Given the description of an element on the screen output the (x, y) to click on. 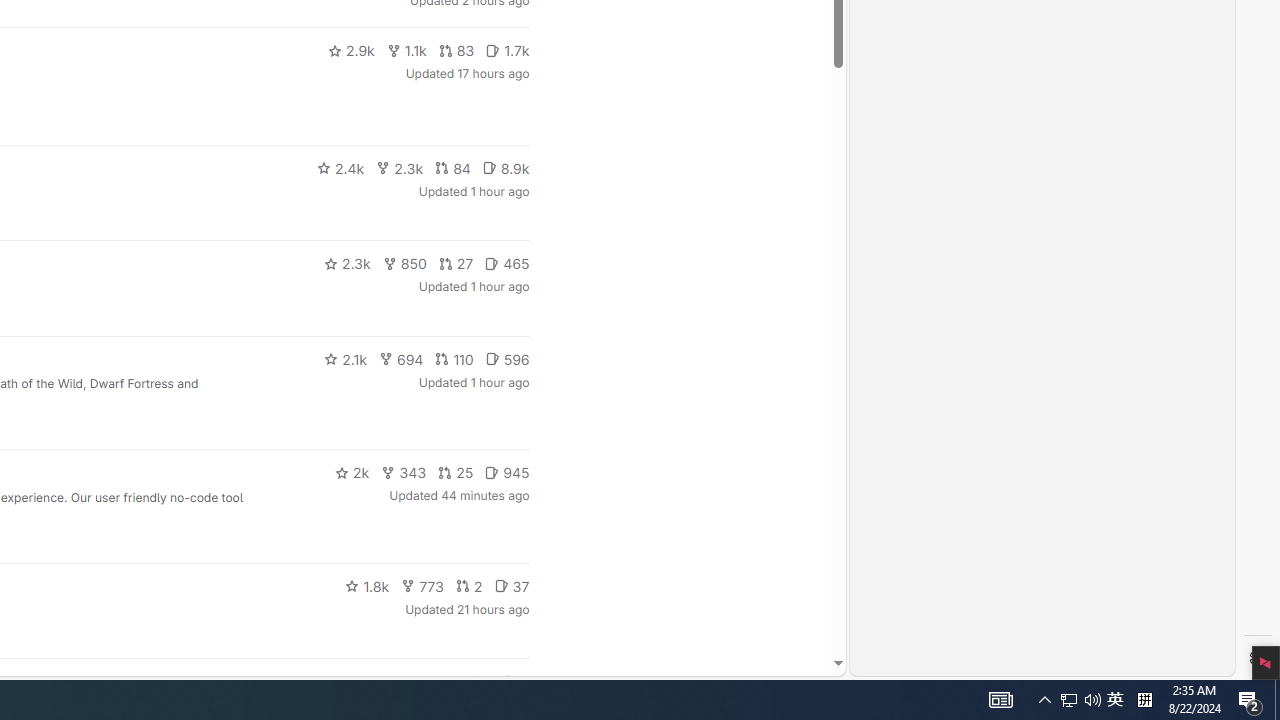
143 (434, 681)
945 (507, 472)
27 (455, 263)
1 (479, 681)
2.9k (350, 50)
343 (404, 472)
1.7k (507, 50)
6 (515, 681)
8.9k (505, 167)
2 (468, 585)
850 (404, 263)
773 (422, 585)
1.1k (406, 50)
596 (507, 358)
1.4k (378, 681)
